Given the description of an element on the screen output the (x, y) to click on. 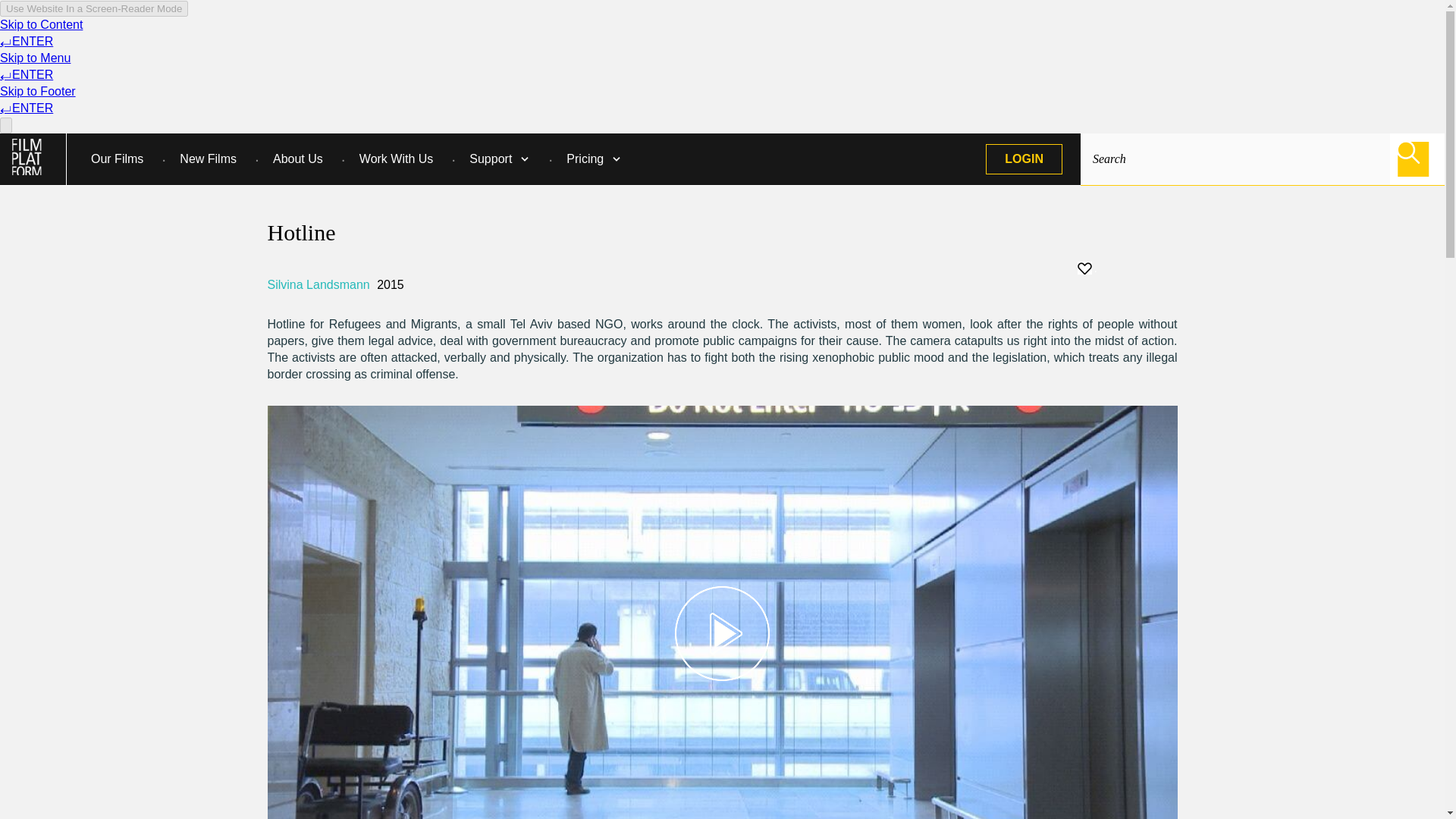
About Us (297, 159)
Pricing (584, 159)
Our Films (116, 159)
Support (490, 159)
. (1086, 267)
New Films (207, 159)
Add to my favorites (1126, 268)
Silvina Landsmann (319, 284)
LOGIN (1023, 159)
Work With Us (395, 159)
